Given the description of an element on the screen output the (x, y) to click on. 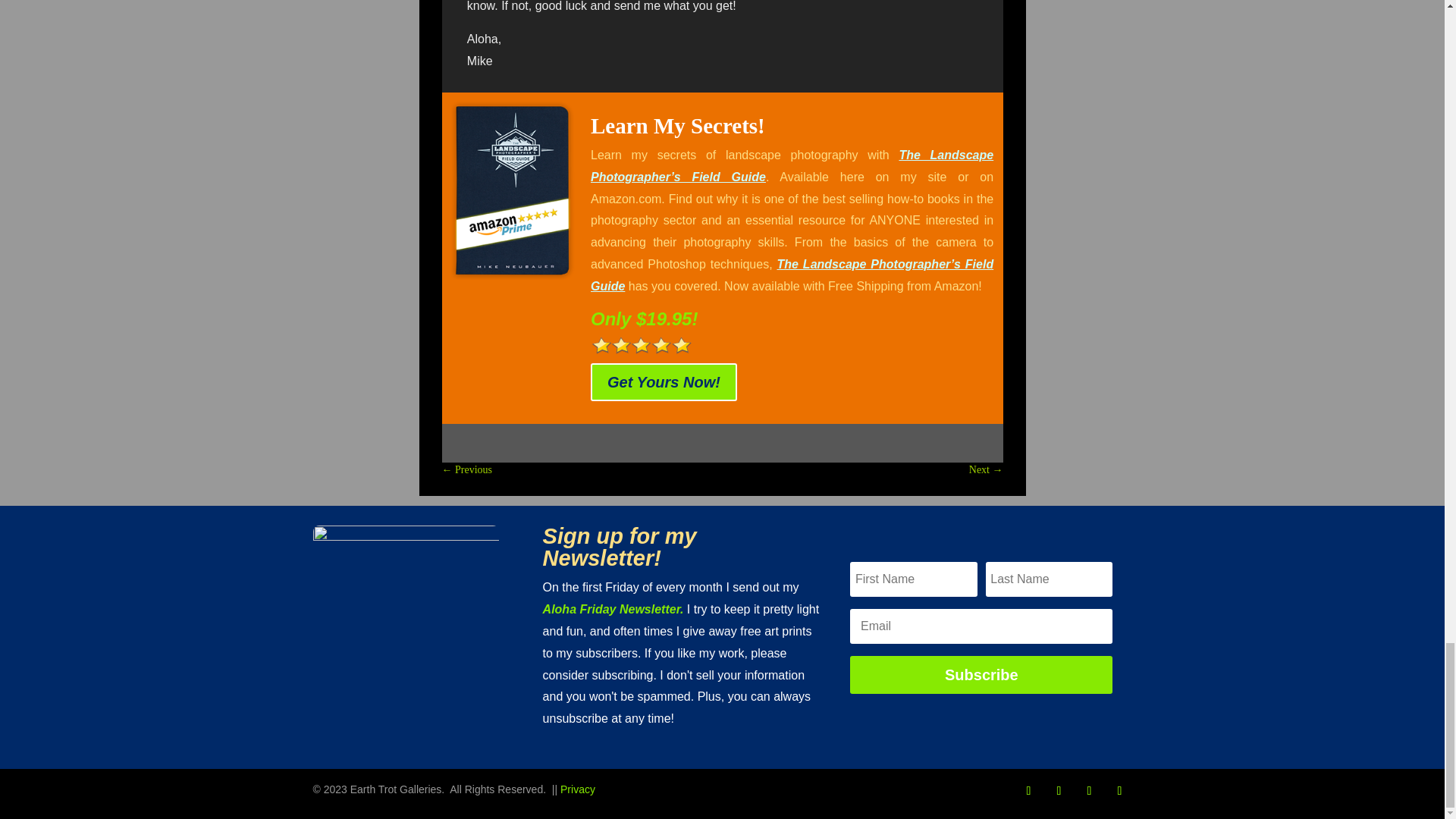
Privacy (577, 788)
Follow on Instagram (1058, 790)
Get Yours Now! (663, 382)
Subscribe (981, 674)
Mike Neubauer (406, 618)
Follow on TikTok (1088, 790)
Follow on Youtube (1118, 790)
Follow on Facebook (1028, 790)
